Given the description of an element on the screen output the (x, y) to click on. 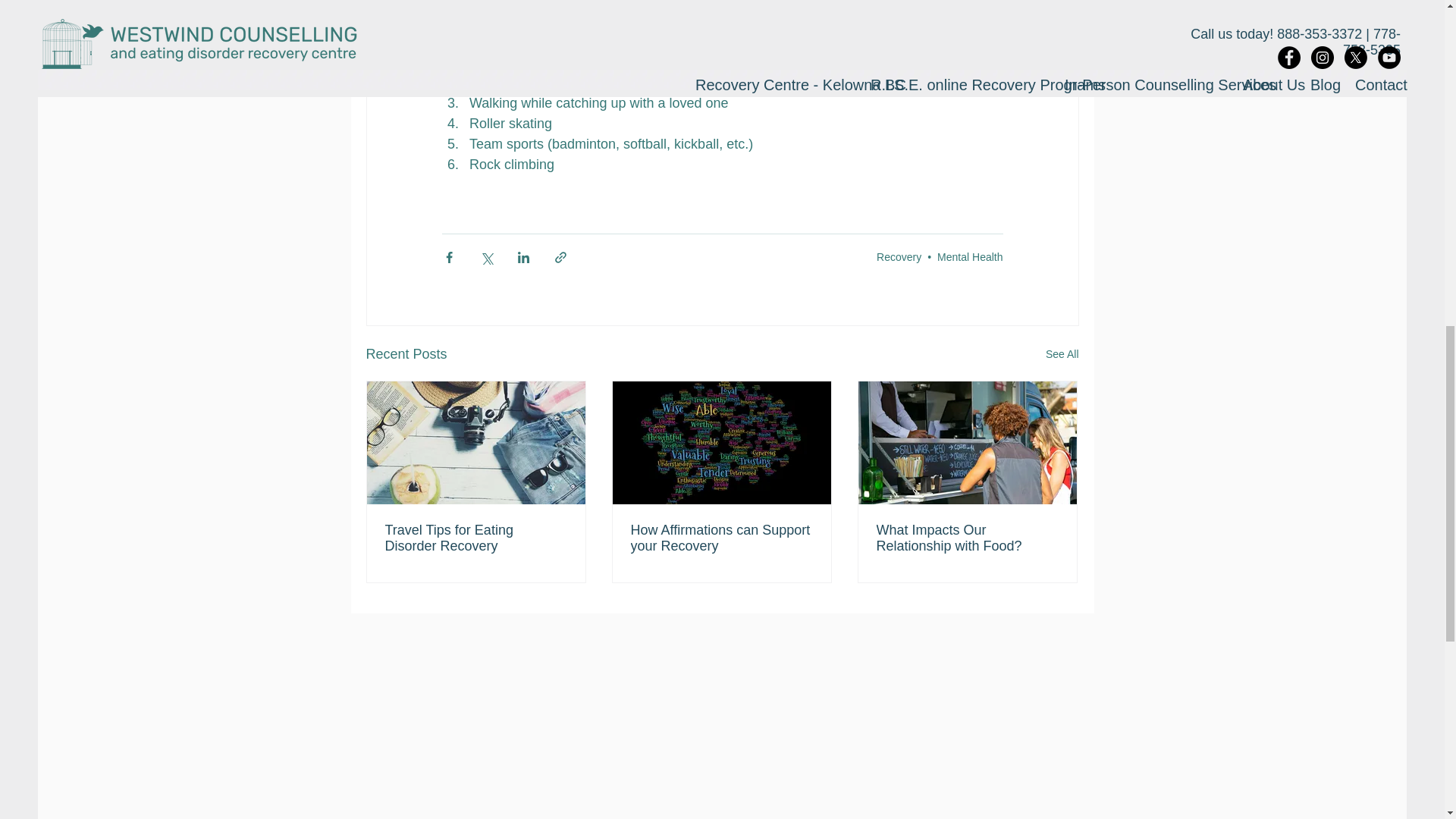
Recovery (898, 256)
See All (1061, 354)
Travel Tips for Eating Disorder Recovery (476, 538)
What Impacts Our Relationship with Food? (967, 538)
Mental Health (970, 256)
How Affirmations can Support your Recovery (721, 538)
